Given the description of an element on the screen output the (x, y) to click on. 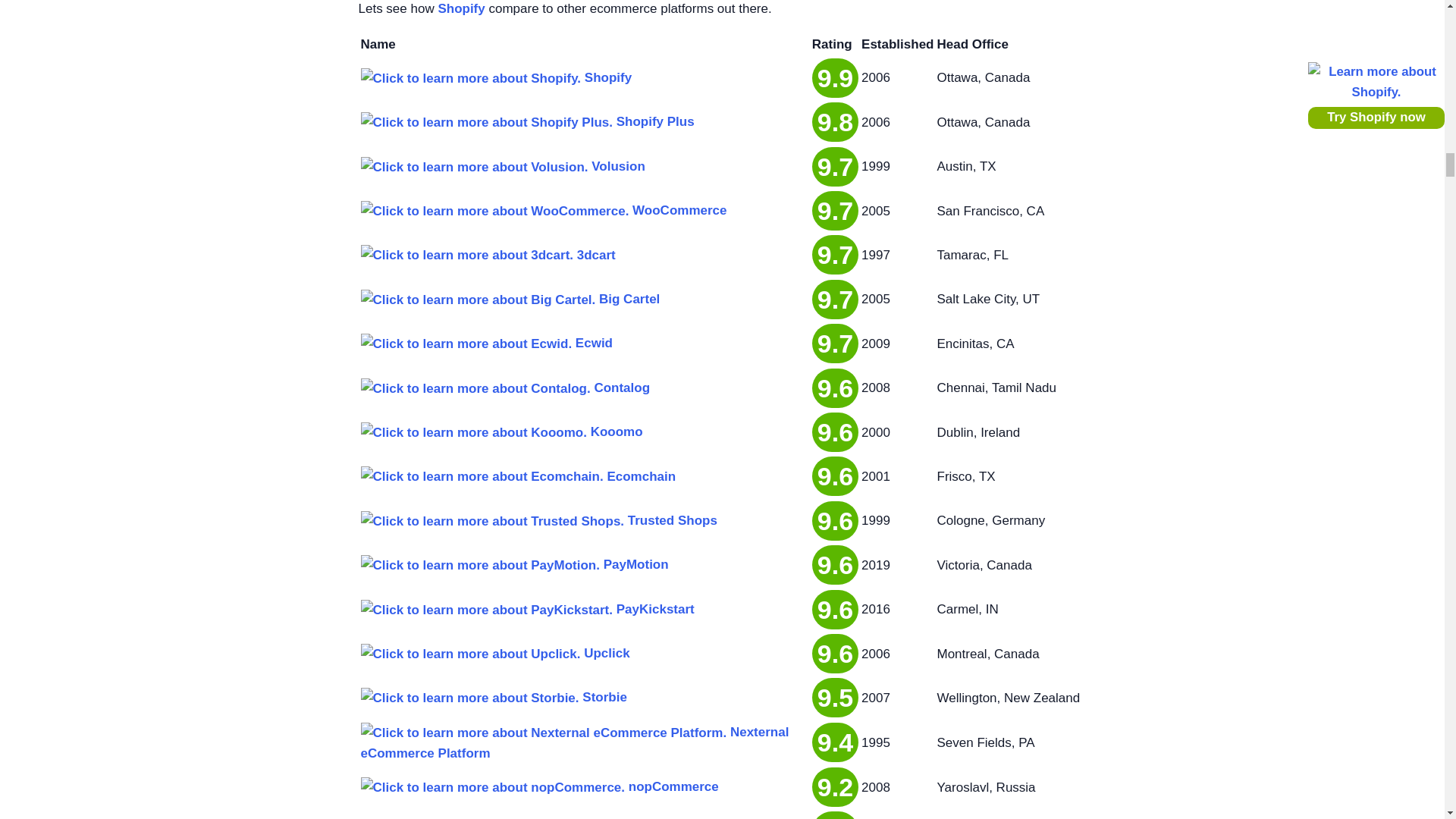
Click to learn more about PayKickstart (486, 609)
Click to learn more about Trusted Shops (492, 521)
Click to learn more about Shopify Plus (486, 122)
Click to learn more about PayMotion (480, 565)
Click to learn more about Nexternal eCommerce Platform (543, 732)
Click to learn more about 3dcart (467, 254)
Click to learn more about Ecomchain (482, 476)
Click to learn more about nopCommerce (493, 787)
Click to learn more about Ecwid (466, 343)
Click to learn more about Volusion (474, 167)
